Given the description of an element on the screen output the (x, y) to click on. 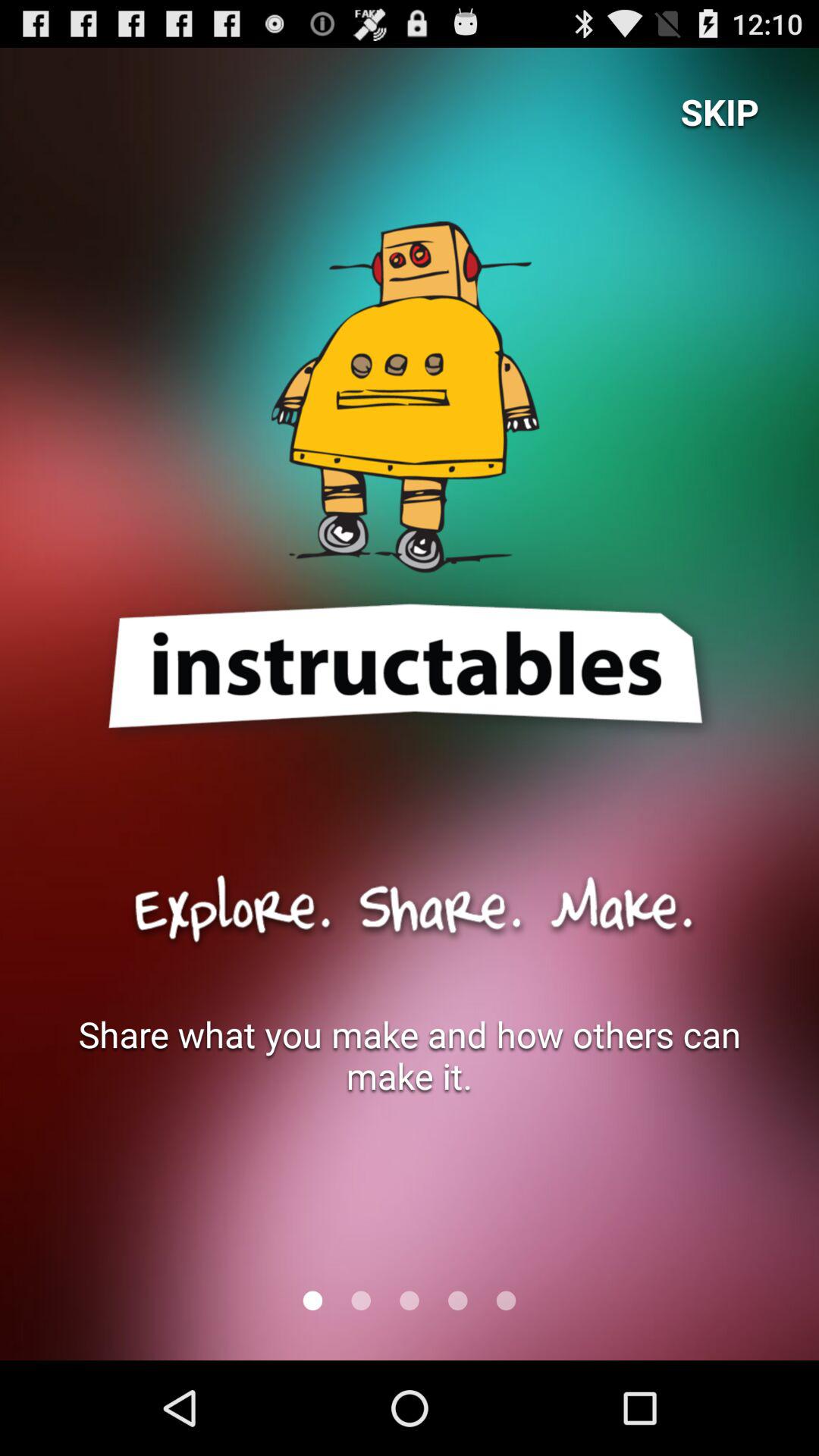
select item at the top right corner (719, 111)
